Given the description of an element on the screen output the (x, y) to click on. 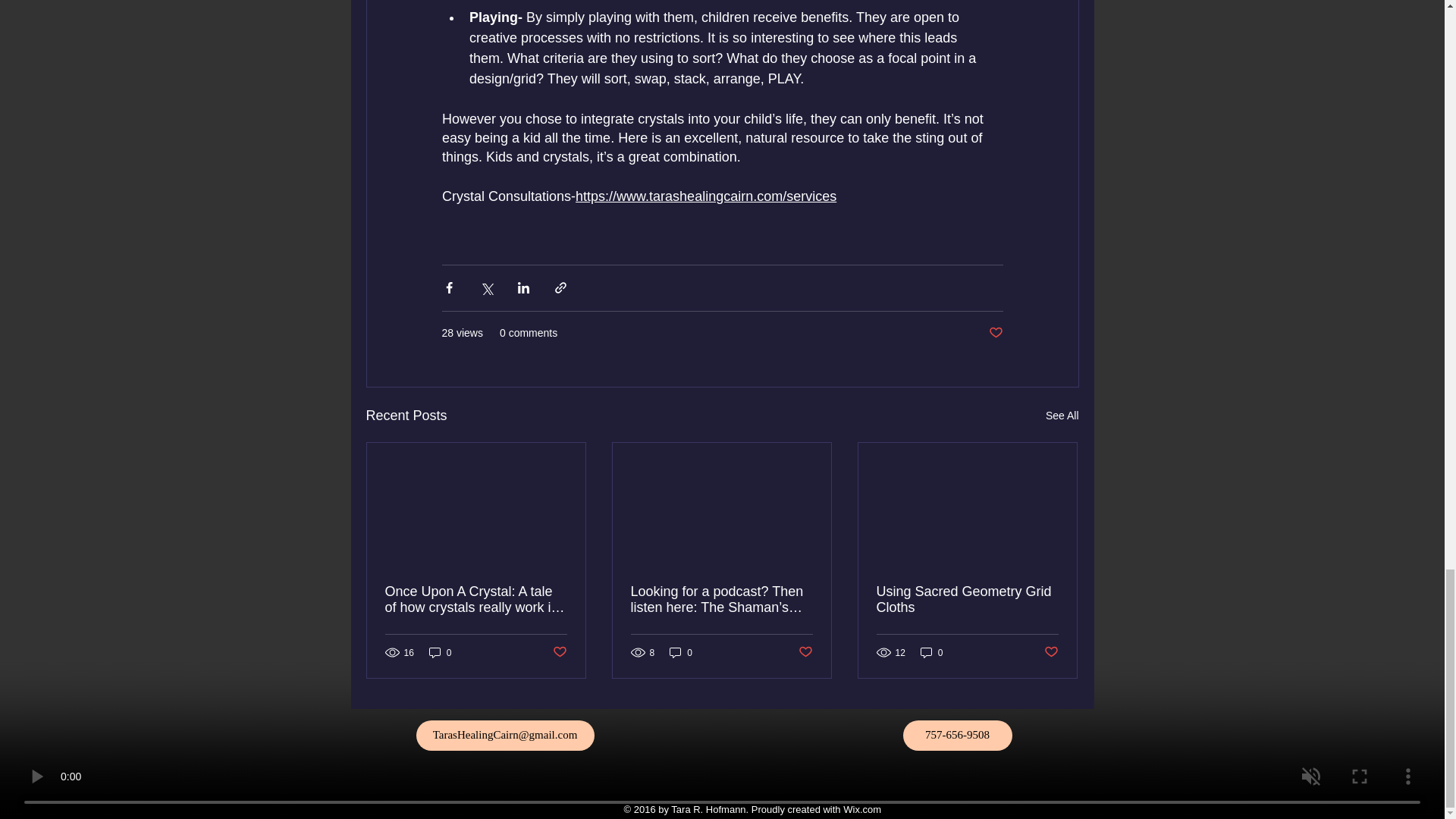
Post not marked as liked (995, 333)
0 (440, 652)
Wix.com  (863, 808)
Using Sacred Geometry Grid Cloths (967, 599)
0 (931, 652)
Post not marked as liked (804, 652)
See All (1061, 415)
757-656-9508 (956, 735)
Post not marked as liked (1050, 652)
0 (681, 652)
Post not marked as liked (558, 652)
